Given the description of an element on the screen output the (x, y) to click on. 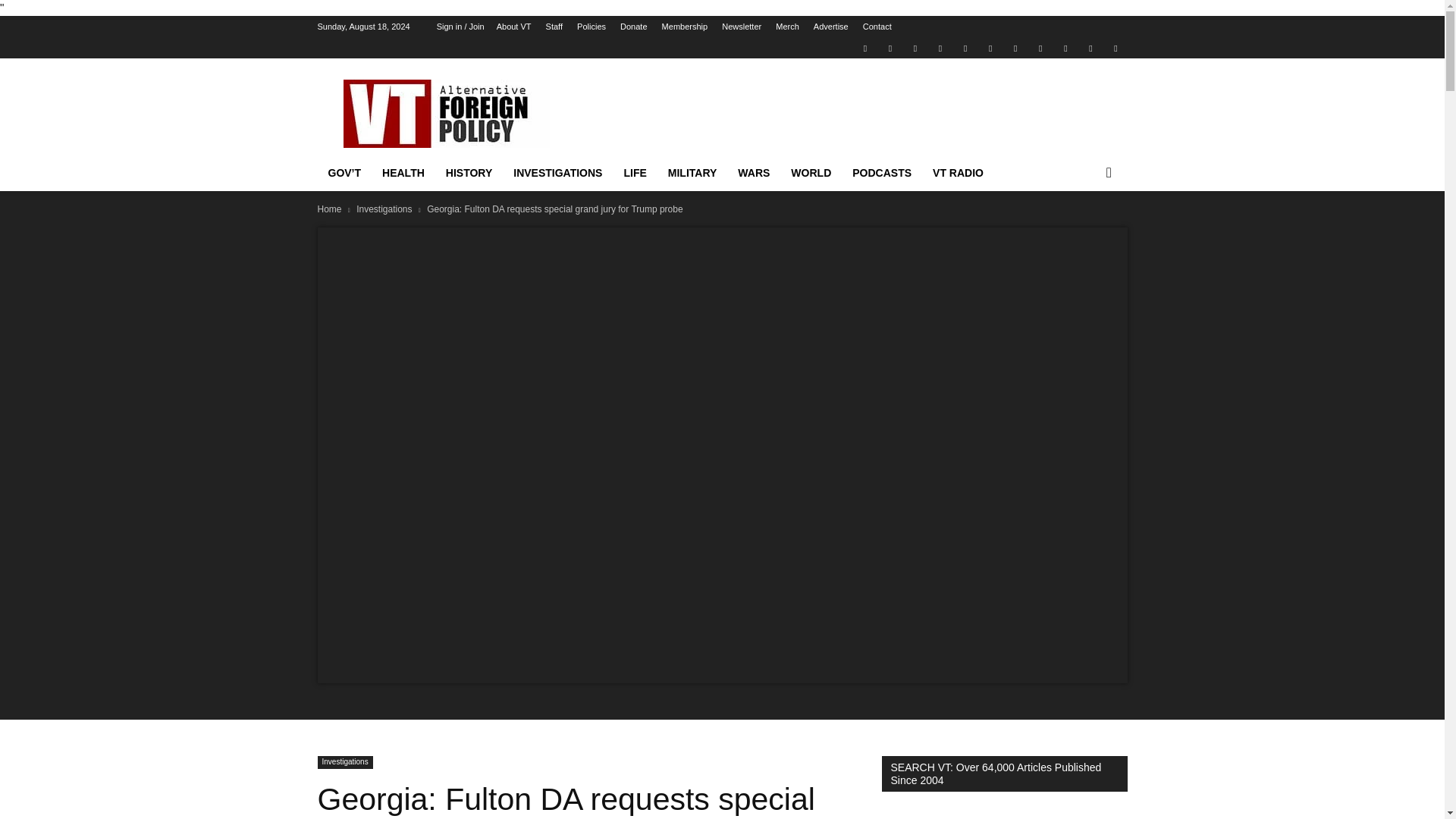
Membership (684, 26)
Donate (633, 26)
Policies (590, 26)
Reddit (940, 47)
Merch (787, 26)
Mail (915, 47)
Staff (554, 26)
Rumble (964, 47)
Advertise (830, 26)
About VT (513, 26)
